Given the description of an element on the screen output the (x, y) to click on. 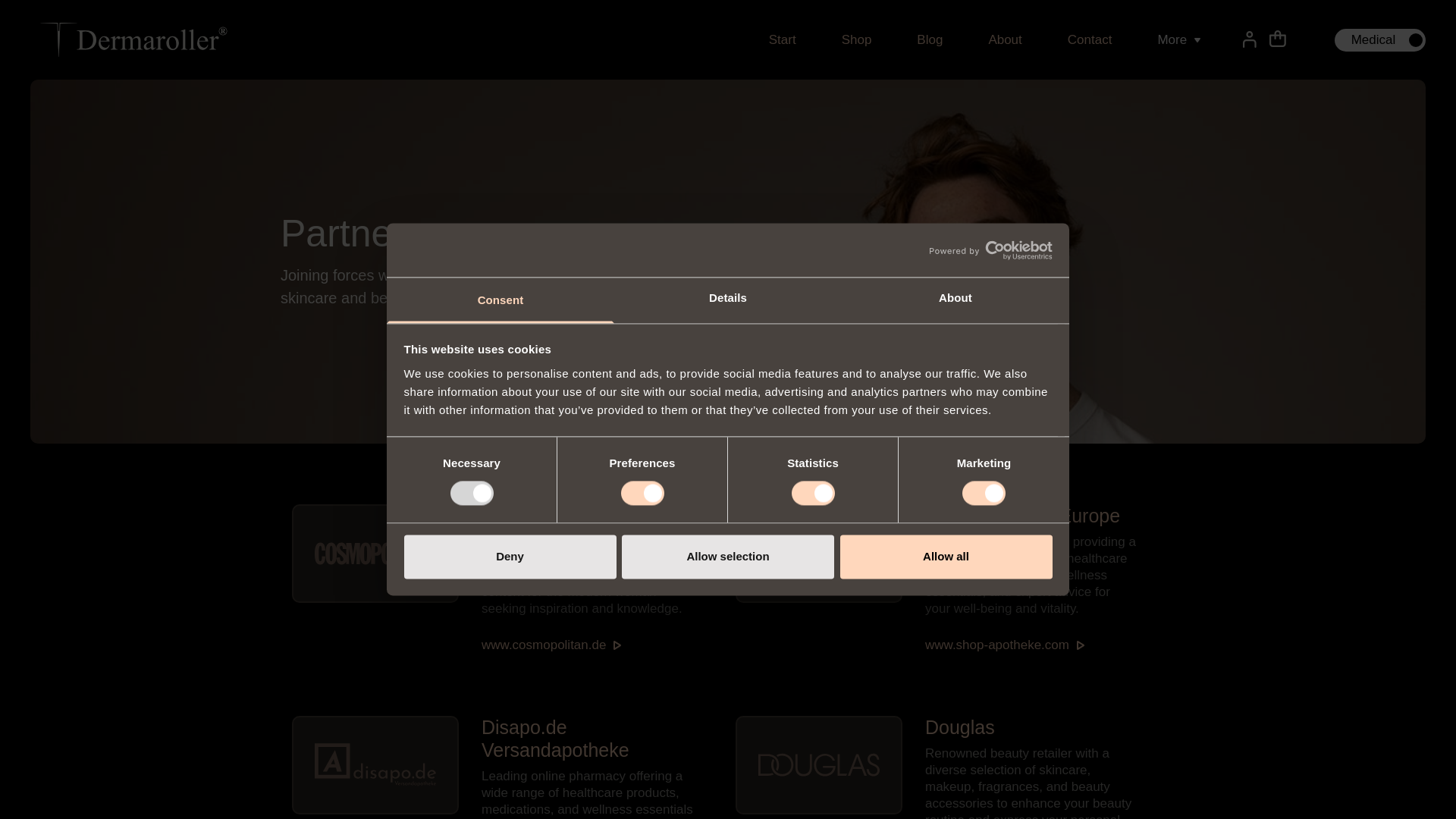
Details (727, 299)
Allow selection (727, 556)
Deny (509, 556)
Consent (500, 299)
About (954, 299)
